Given the description of an element on the screen output the (x, y) to click on. 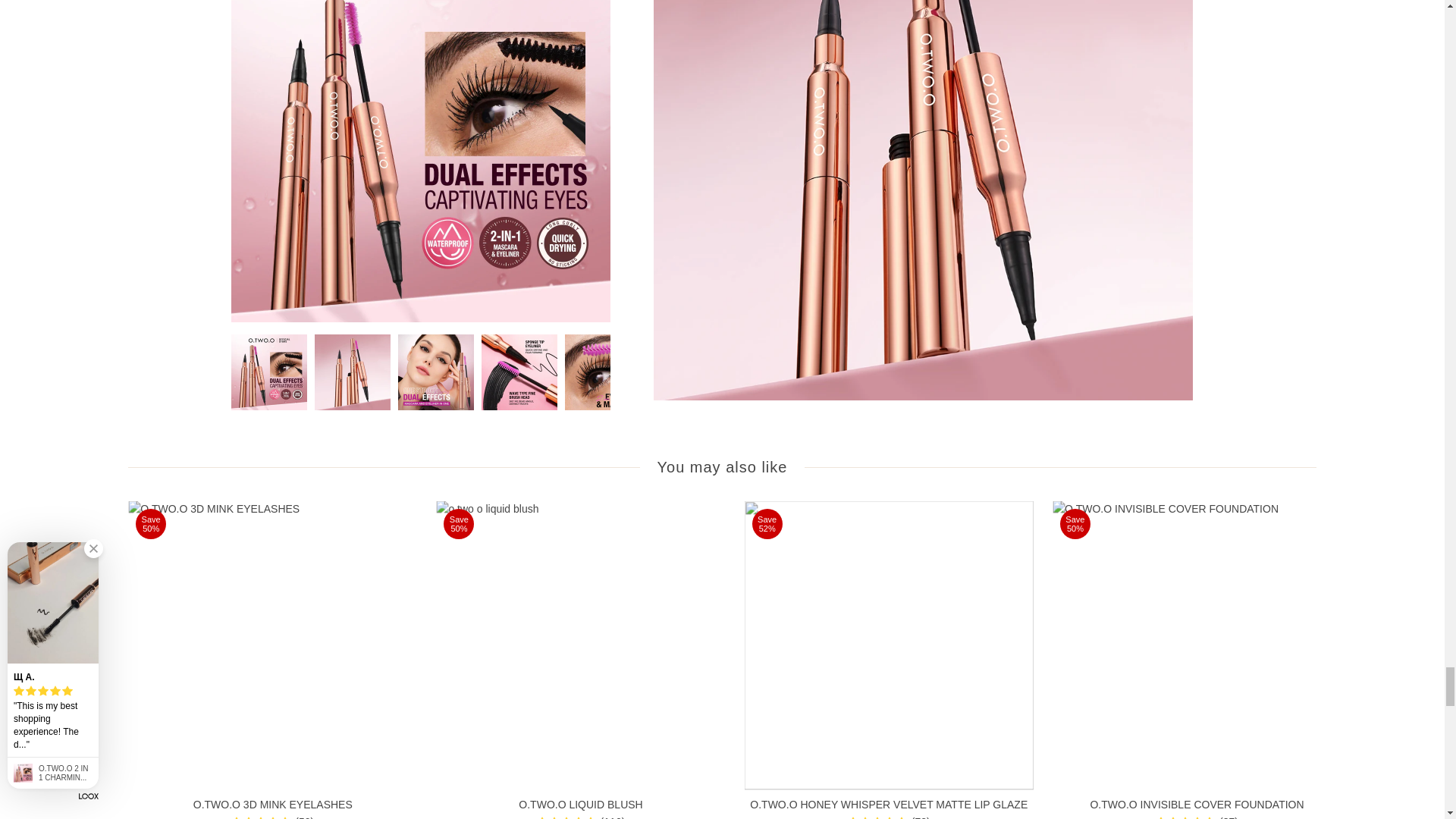
O.TWO.O 3D MINK EYELASHES (272, 645)
O.TWO.O LIQUID BLUSH (580, 645)
O.TWO.O INVISIBLE COVER FOUNDATION (1196, 645)
O.TWO.O HONEY WHISPER VELVET MATTE LIP GLAZE (888, 645)
